Given the description of an element on the screen output the (x, y) to click on. 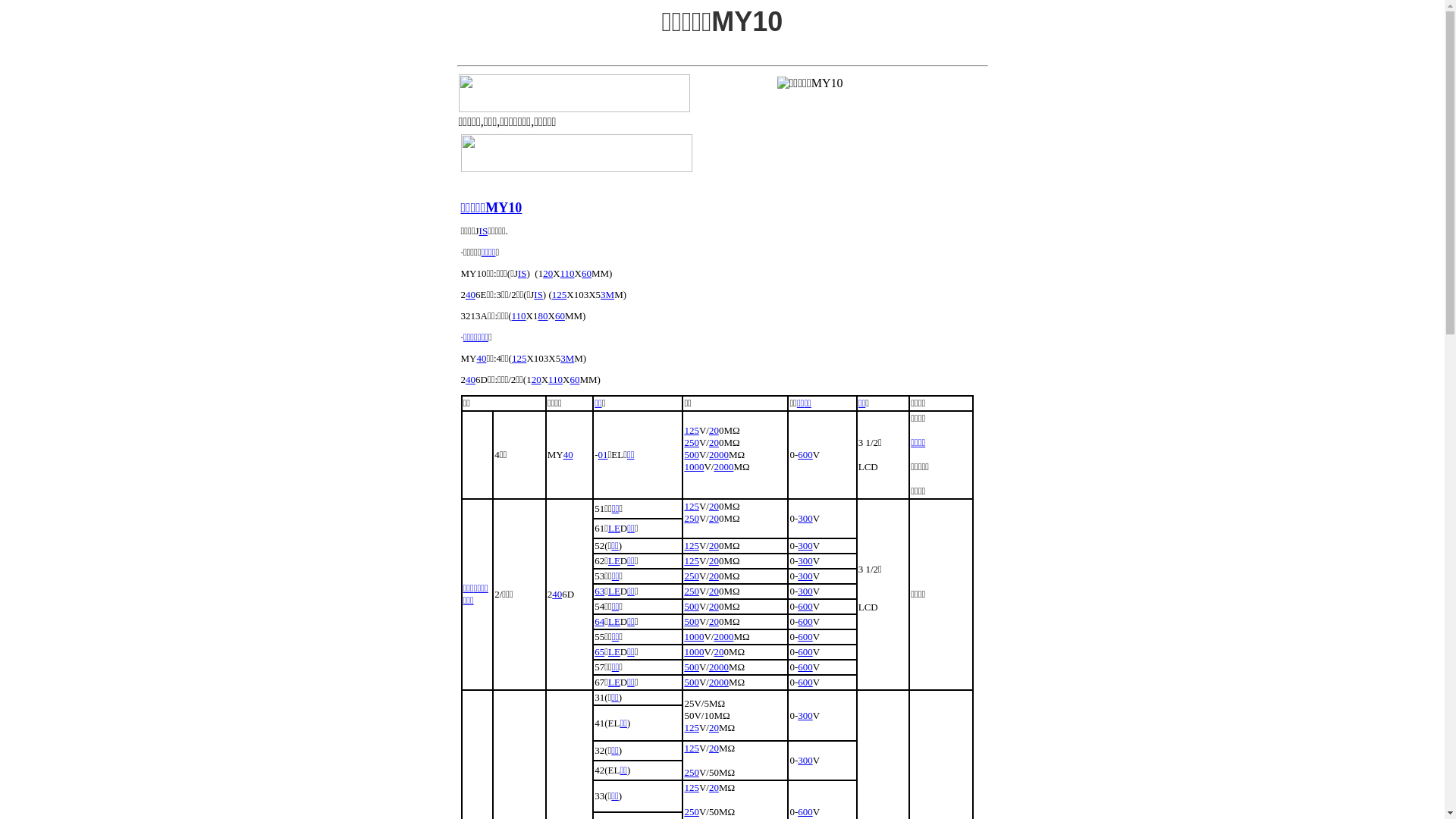
20 Element type: text (713, 442)
1000 Element type: text (693, 466)
300 Element type: text (804, 518)
65 Element type: text (599, 651)
600 Element type: text (804, 454)
60 Element type: text (575, 379)
600 Element type: text (804, 621)
250 Element type: text (691, 575)
500 Element type: text (691, 454)
500 Element type: text (691, 666)
110 Element type: text (555, 379)
2000 Element type: text (718, 454)
600 Element type: text (804, 651)
60 Element type: text (559, 315)
125 Element type: text (691, 505)
20 Element type: text (713, 605)
600 Element type: text (804, 811)
20 Element type: text (713, 505)
20 Element type: text (713, 518)
20 Element type: text (713, 747)
2000 Element type: text (723, 636)
250 Element type: text (691, 590)
250 Element type: text (691, 772)
110 Element type: text (518, 315)
250 Element type: text (691, 811)
01 Element type: text (603, 454)
40 Element type: text (470, 379)
IS Element type: text (483, 230)
20 Element type: text (713, 621)
20 Element type: text (547, 273)
300 Element type: text (804, 575)
LE Element type: text (614, 681)
125 Element type: text (691, 545)
2000 Element type: text (718, 681)
63 Element type: text (599, 590)
125 Element type: text (519, 358)
20 Element type: text (718, 651)
300 Element type: text (804, 759)
20 Element type: text (713, 590)
40 Element type: text (568, 454)
600 Element type: text (804, 681)
125 Element type: text (691, 430)
LE Element type: text (614, 651)
250 Element type: text (691, 518)
80 Element type: text (543, 315)
LE Element type: text (614, 590)
IS Element type: text (537, 294)
600 Element type: text (804, 636)
600 Element type: text (804, 666)
IS Element type: text (522, 273)
LE Element type: text (614, 527)
3M Element type: text (567, 358)
3M Element type: text (607, 294)
20 Element type: text (713, 787)
300 Element type: text (804, 545)
500 Element type: text (691, 621)
60 Element type: text (586, 273)
500 Element type: text (691, 681)
2000 Element type: text (718, 666)
125 Element type: text (691, 747)
40 Element type: text (481, 358)
300 Element type: text (804, 715)
1000 Element type: text (693, 636)
20 Element type: text (536, 379)
20 Element type: text (713, 727)
125 Element type: text (691, 560)
600 Element type: text (804, 605)
2000 Element type: text (723, 466)
300 Element type: text (804, 590)
500 Element type: text (691, 605)
LE Element type: text (614, 621)
20 Element type: text (713, 575)
LE Element type: text (614, 560)
40 Element type: text (470, 294)
20 Element type: text (713, 430)
300 Element type: text (804, 560)
125 Element type: text (691, 727)
20 Element type: text (713, 560)
64 Element type: text (599, 621)
40 Element type: text (556, 593)
1000 Element type: text (693, 651)
110 Element type: text (567, 273)
125 Element type: text (691, 787)
250 Element type: text (691, 442)
125 Element type: text (559, 294)
20 Element type: text (713, 545)
